Given the description of an element on the screen output the (x, y) to click on. 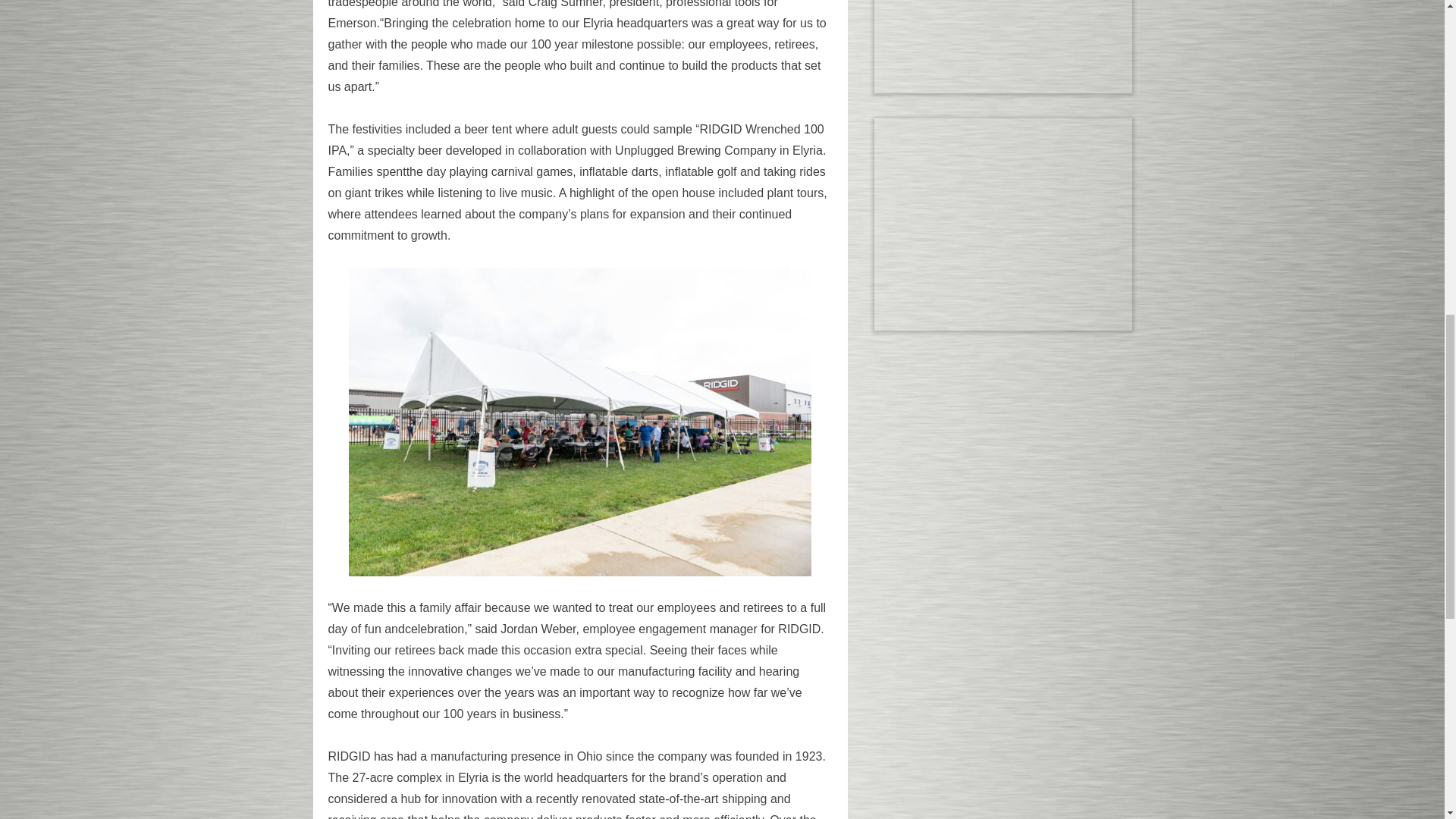
3rd party ad content (1002, 223)
3rd party ad content (1002, 46)
